Given the description of an element on the screen output the (x, y) to click on. 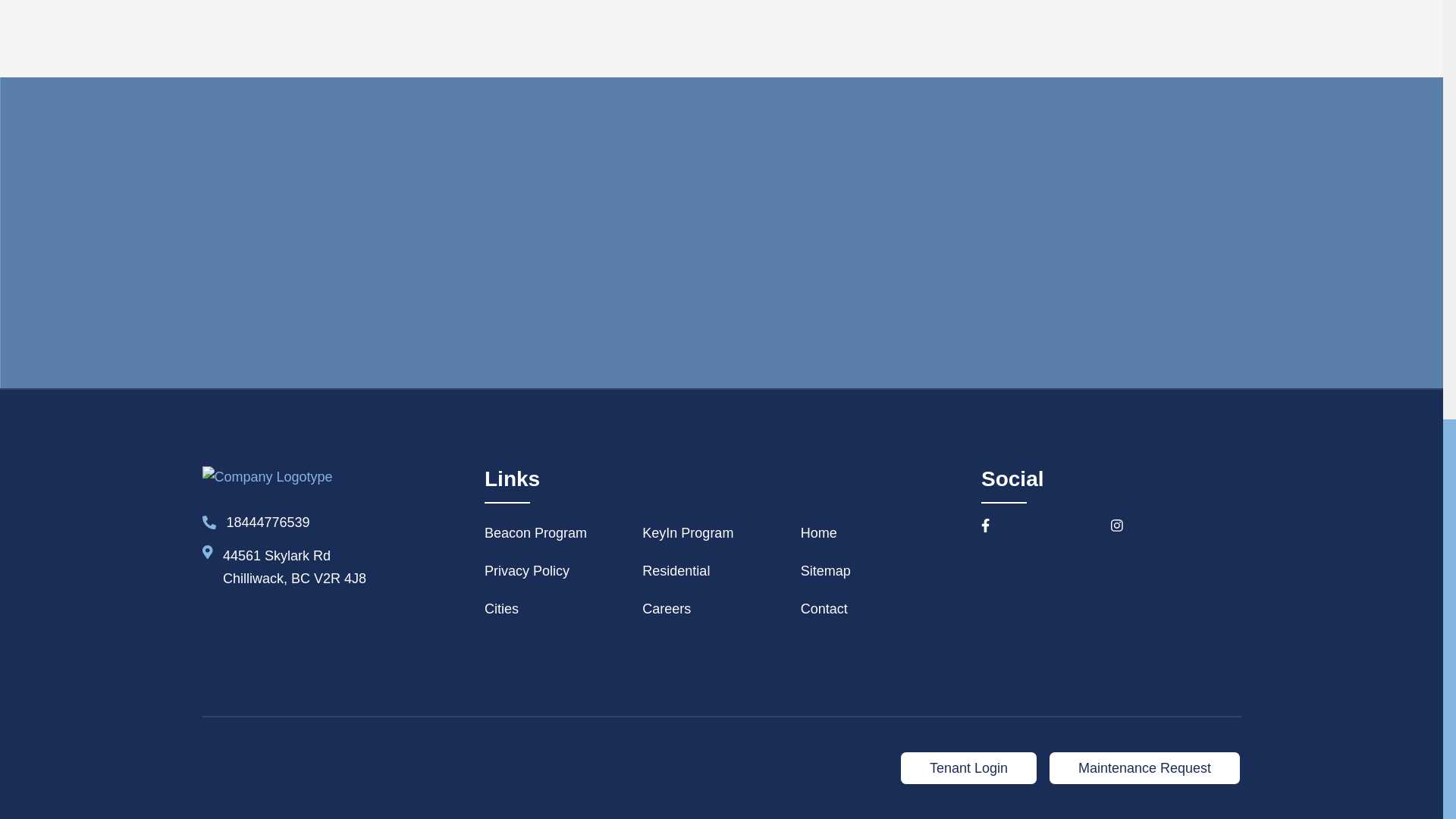
Home (879, 533)
Maintenance Request (1144, 767)
Facebook (1045, 526)
Residential (720, 571)
KeyIn Program (720, 533)
18444776539 (255, 522)
Tenant Login (967, 767)
Sitemap (879, 571)
Careers (720, 609)
Beacon Program (563, 533)
